Given the description of an element on the screen output the (x, y) to click on. 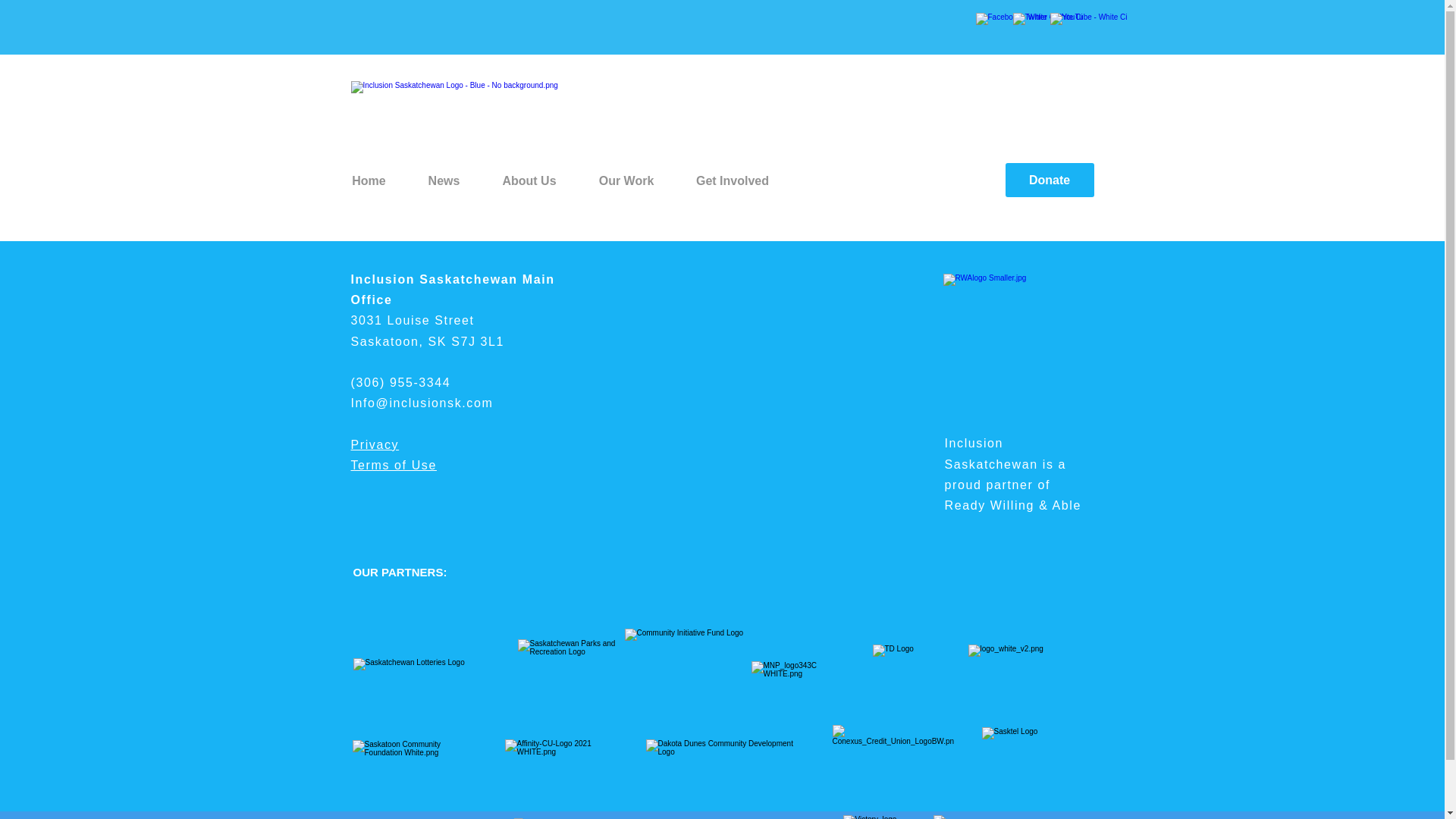
Saskatchewan Lotteries, Colour, Large LIGHT2.png (420, 674)
News (443, 180)
Get Involved (732, 180)
About Us (528, 180)
Our Work (626, 180)
Home (368, 180)
